Given the description of an element on the screen output the (x, y) to click on. 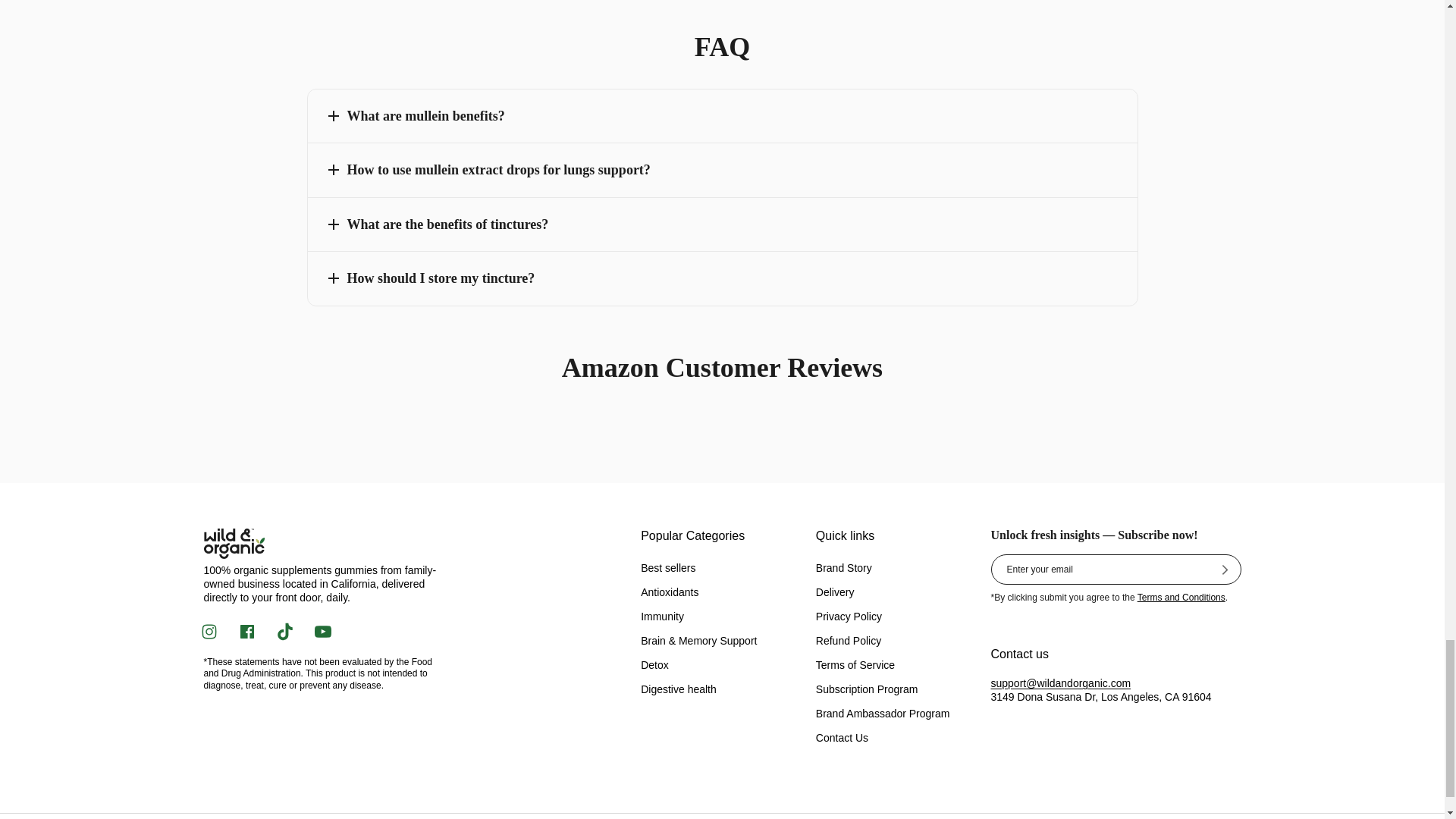
Terms of Service (1181, 597)
